Given the description of an element on the screen output the (x, y) to click on. 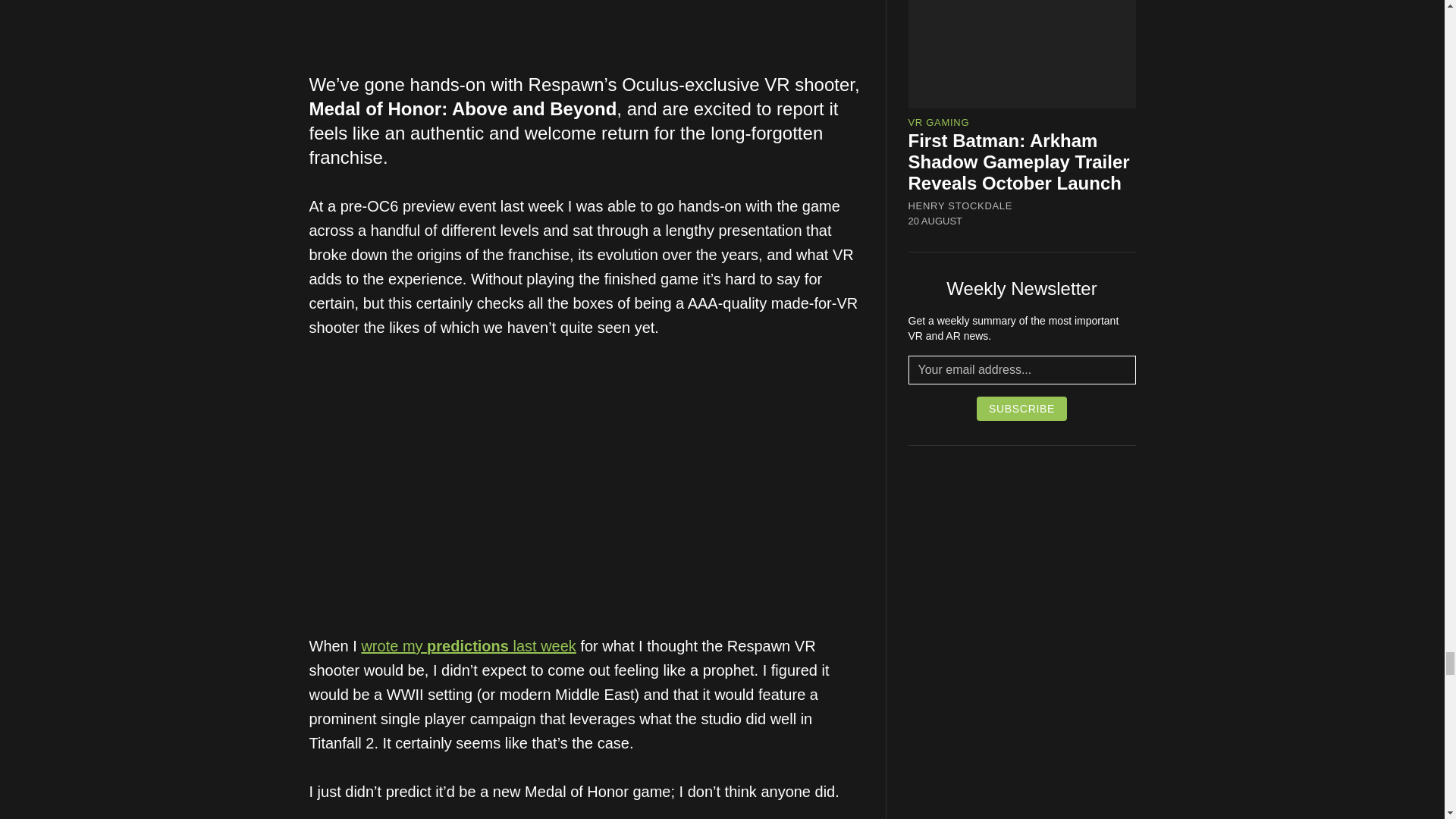
wrote my predictions last week (468, 646)
HENRY STOCKDALE (960, 205)
Subscribe (1021, 408)
VR GAMING (938, 122)
Subscribe (1021, 408)
